Given the description of an element on the screen output the (x, y) to click on. 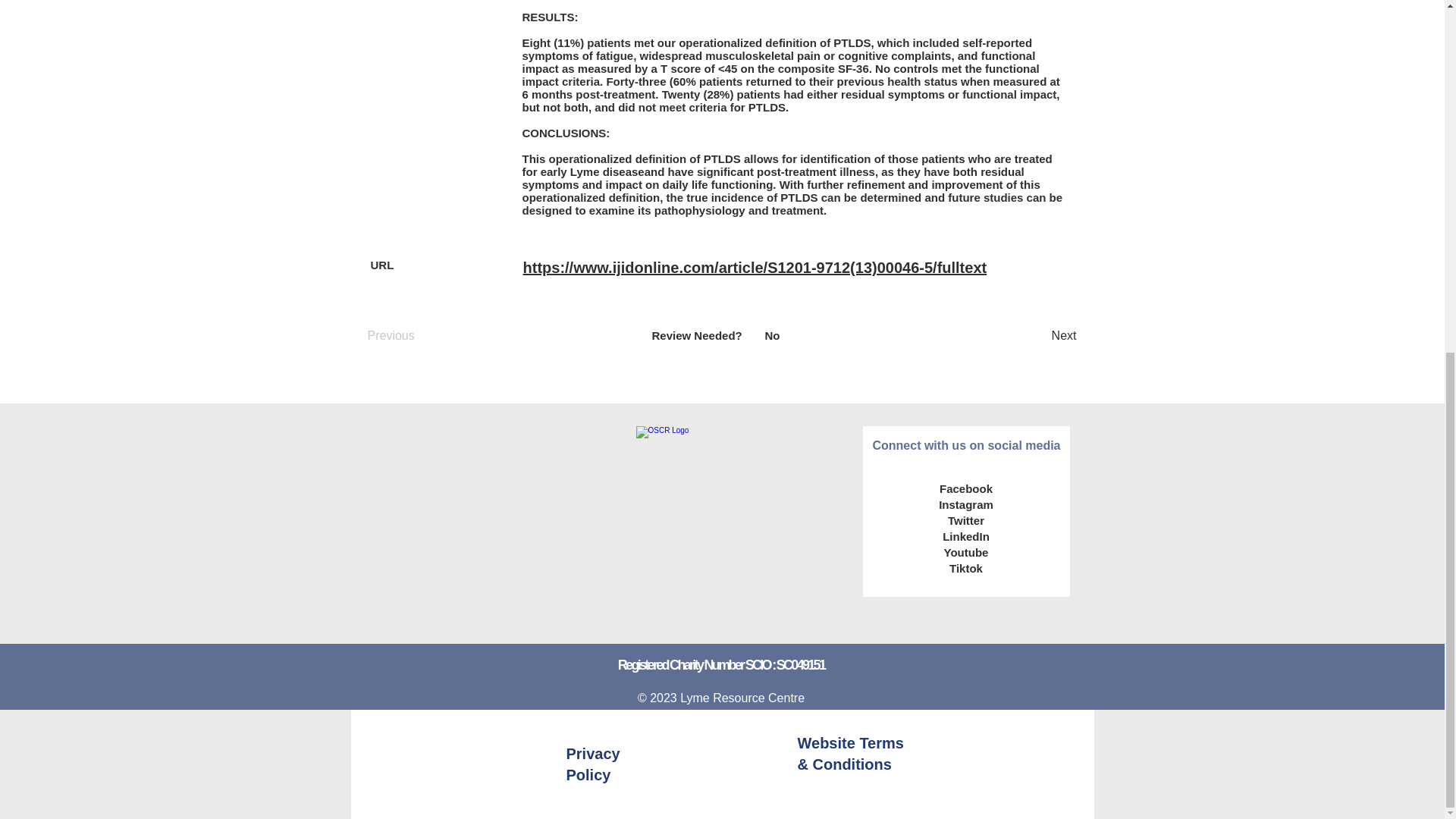
OSCR Logo (720, 511)
